Given the description of an element on the screen output the (x, y) to click on. 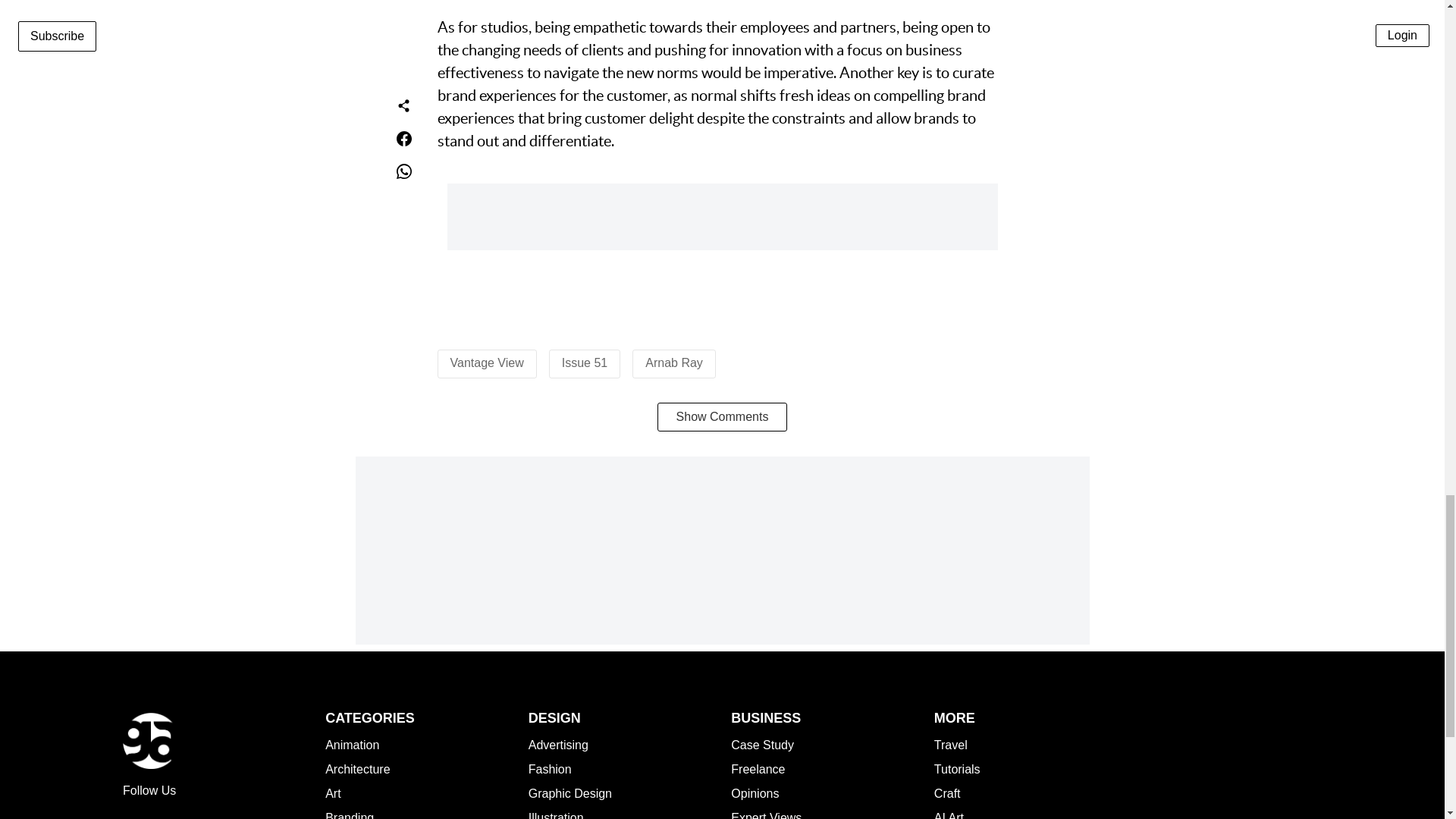
Show Comments (722, 416)
Architecture (357, 768)
Issue 51 (584, 362)
Vantage View (486, 362)
Arnab Ray (674, 362)
Animation (351, 744)
